Given the description of an element on the screen output the (x, y) to click on. 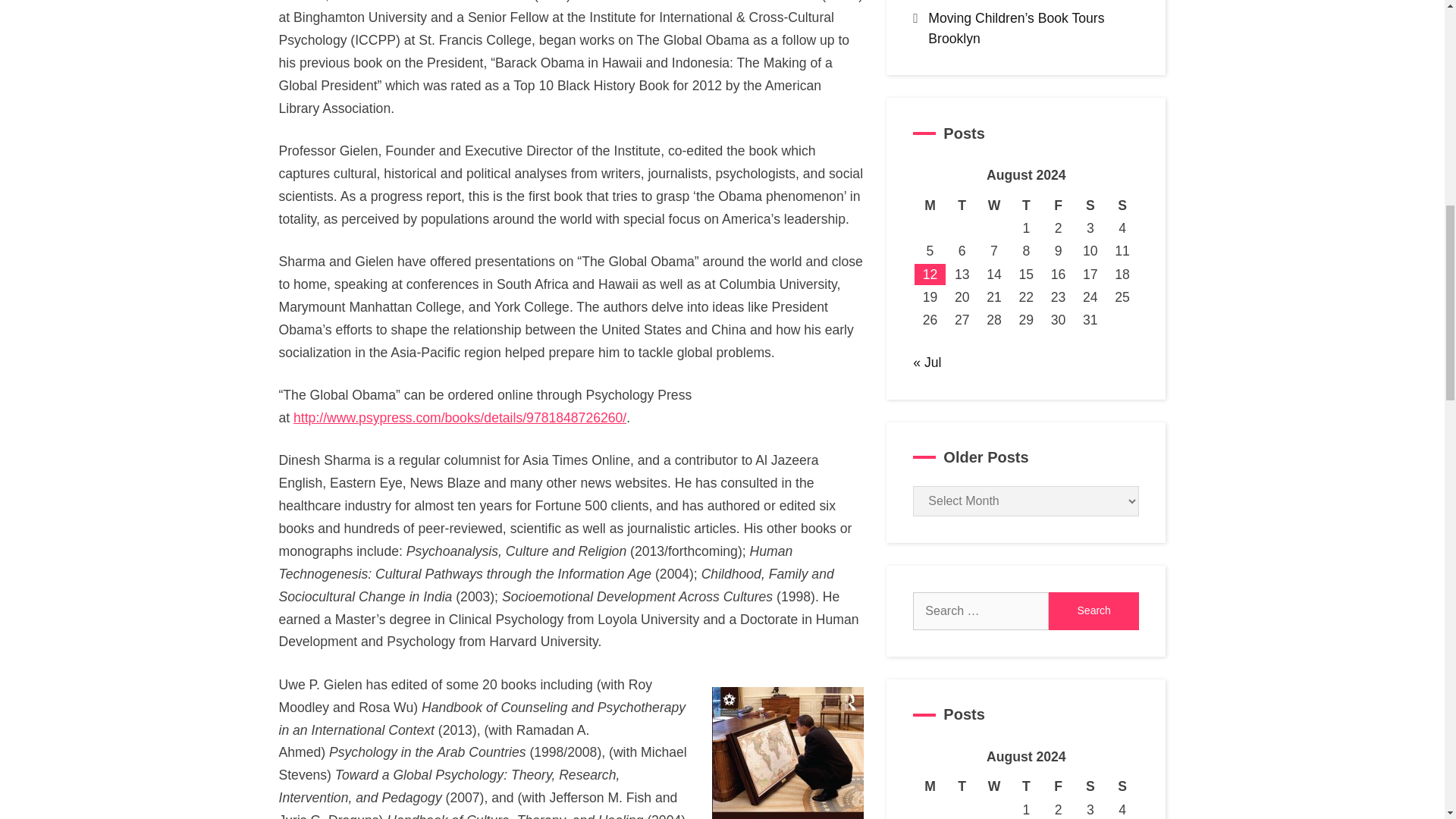
Tuesday (961, 785)
Friday (1057, 785)
Thursday (1025, 204)
Wednesday (993, 204)
Thursday (1025, 785)
Saturday (1090, 204)
Monday (929, 785)
Saturday (1090, 785)
Sunday (1121, 785)
Search (1093, 610)
